Given the description of an element on the screen output the (x, y) to click on. 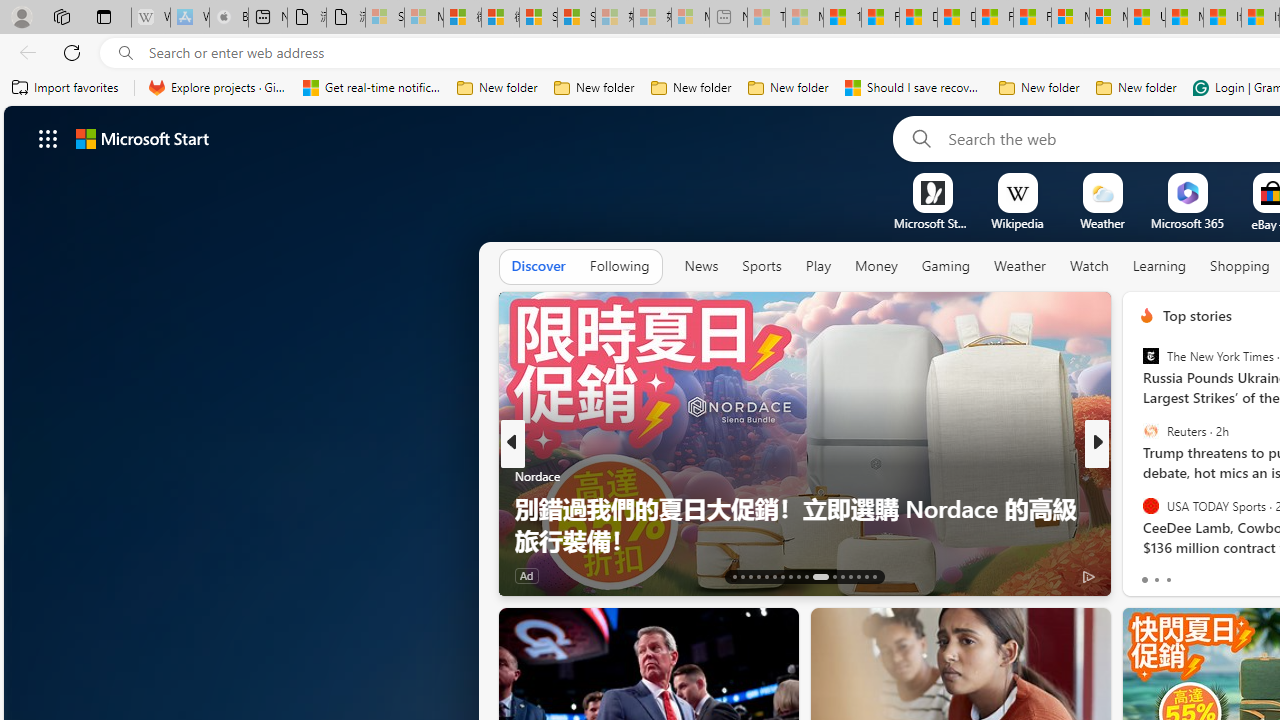
tab-2 (1168, 579)
AutomationID: tab-33 (874, 576)
Food and Drink - MSN (879, 17)
Learning (1159, 265)
New folder (1136, 88)
View comments 3 Comment (1234, 575)
USA TODAY Sports (1149, 505)
Sign in to your Microsoft account - Sleeping (385, 17)
Business Insider (1138, 475)
